Given the description of an element on the screen output the (x, y) to click on. 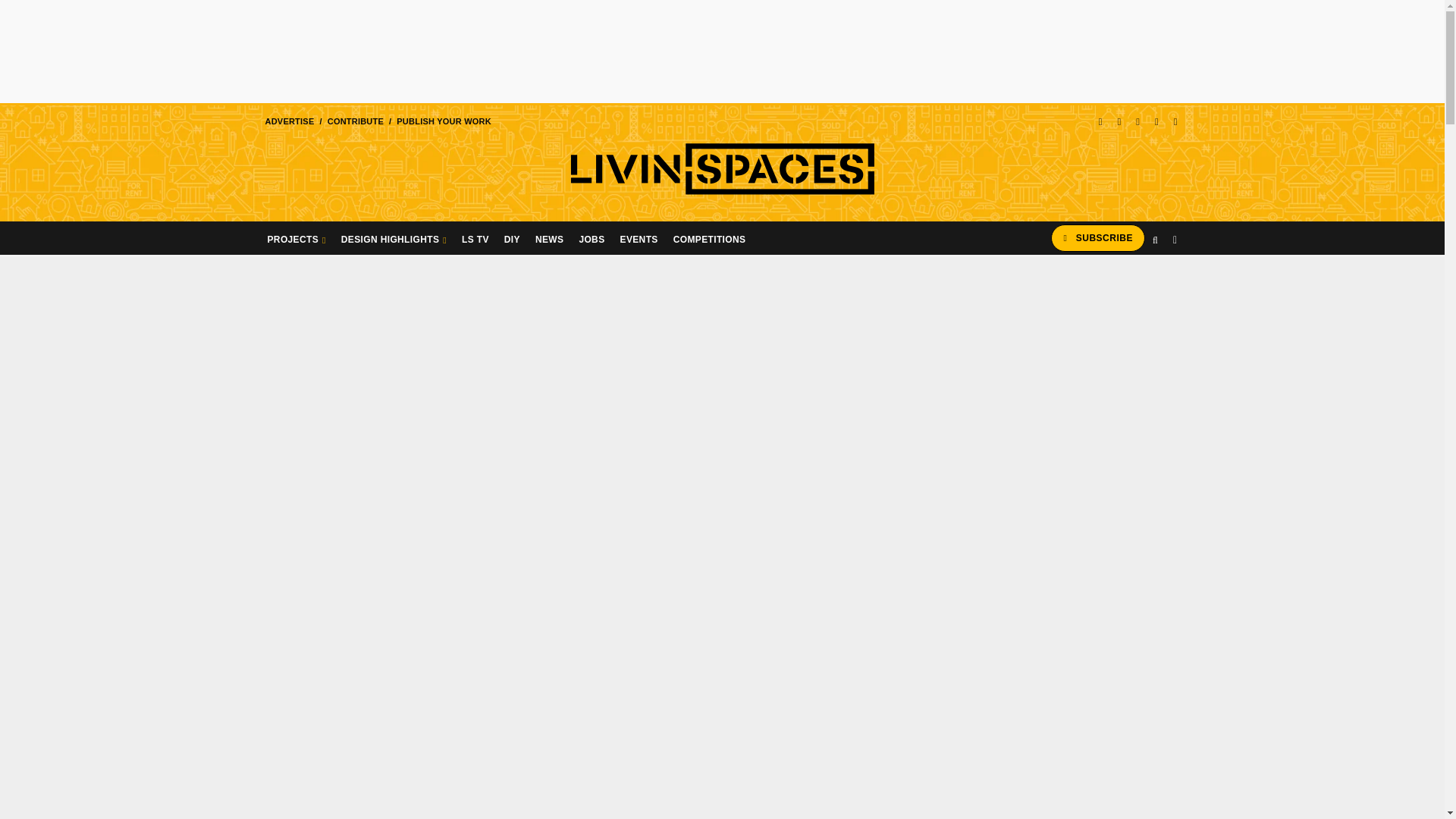
CONTRIBUTE (354, 120)
ADVERTISE (288, 120)
PROJECTS (296, 237)
DESIGN HIGHLIGHTS (393, 237)
LS TV (475, 237)
PUBLISH YOUR WORK (443, 120)
